Given the description of an element on the screen output the (x, y) to click on. 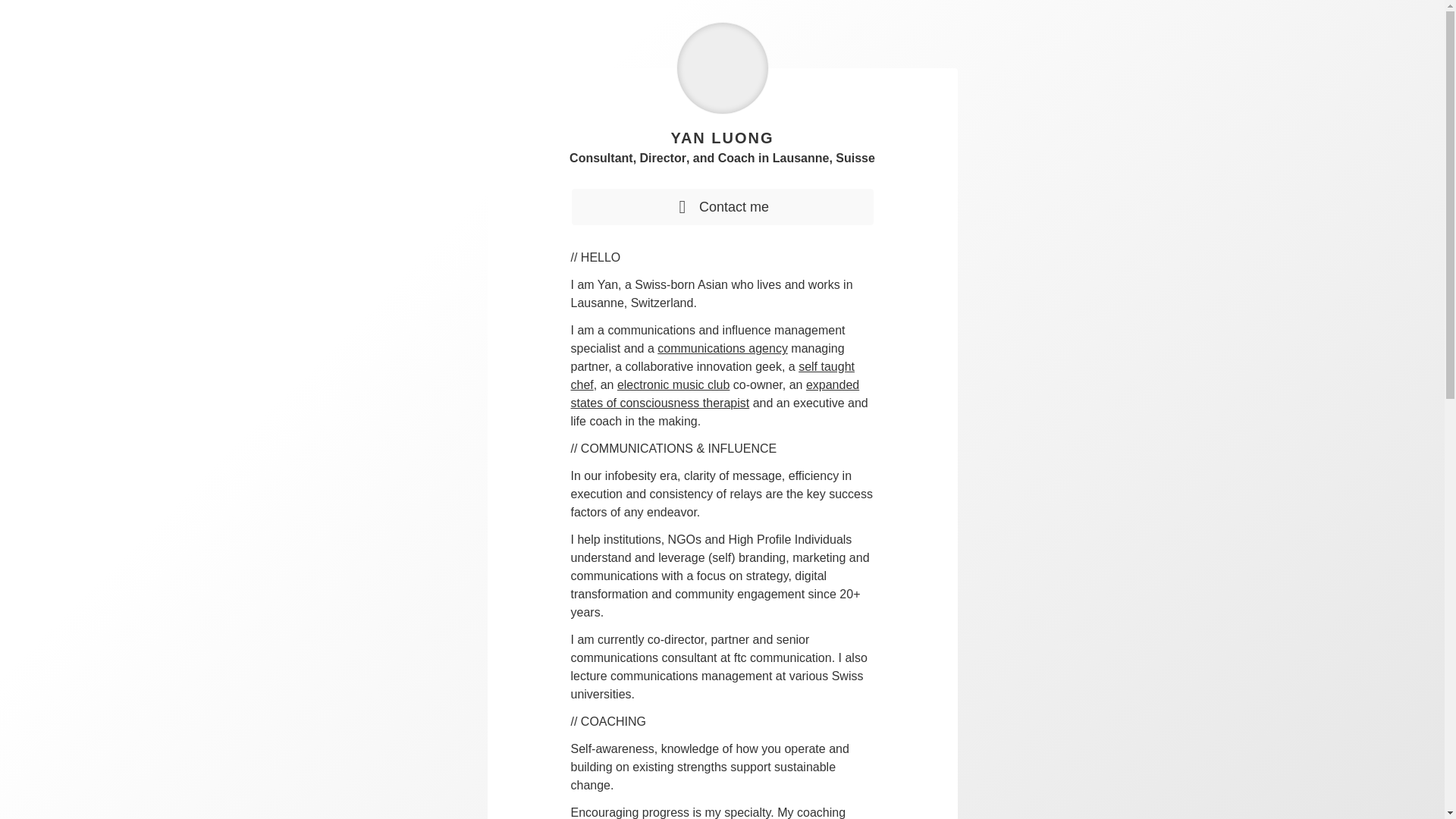
electronic music club (673, 384)
communications agency (722, 348)
expanded states of consciousness therapist (714, 393)
self taught chef (711, 375)
Contact me (721, 207)
